Given the description of an element on the screen output the (x, y) to click on. 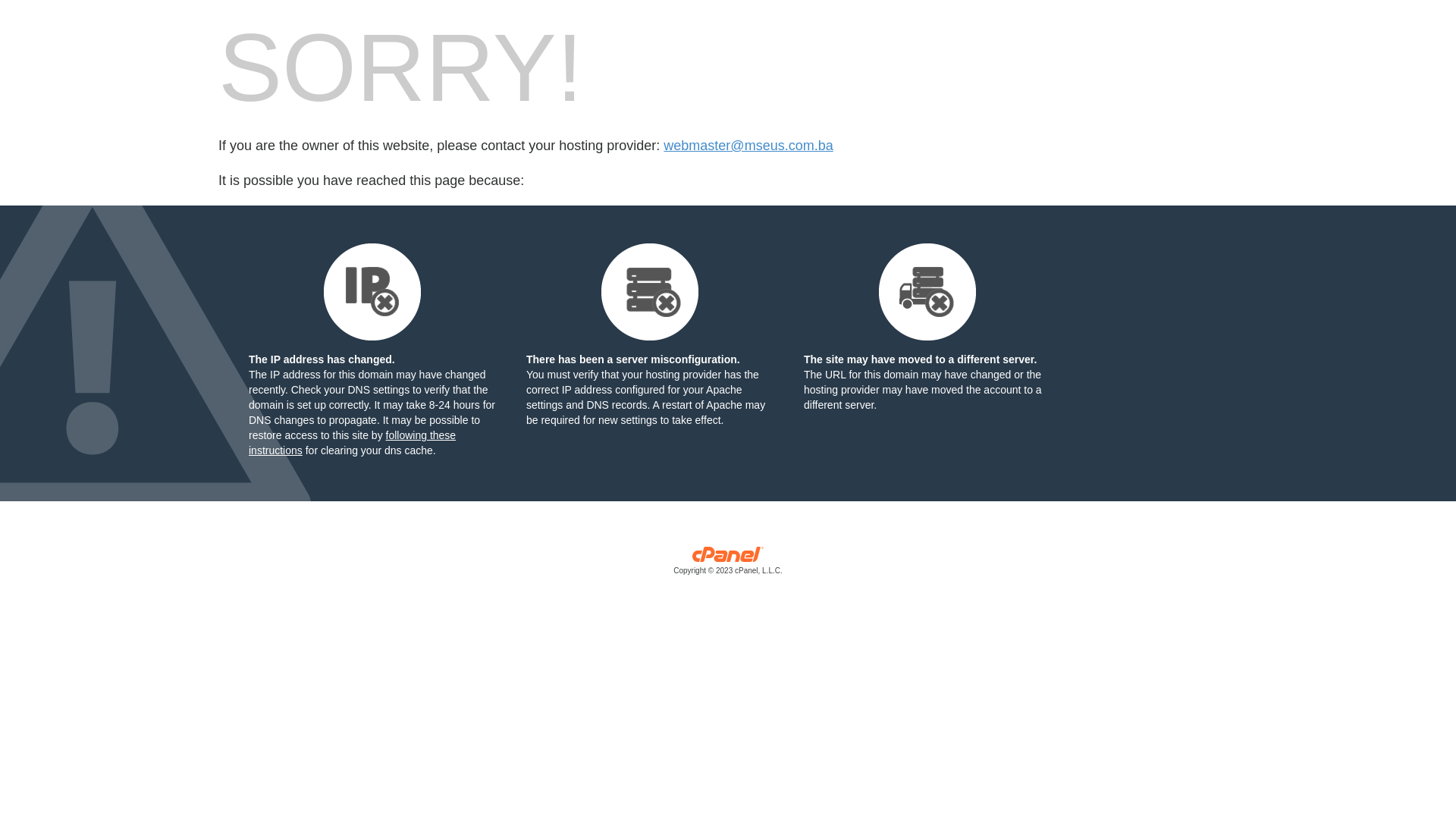
webmaster@mseus.com.ba Element type: text (747, 145)
following these instructions Element type: text (351, 442)
